Given the description of an element on the screen output the (x, y) to click on. 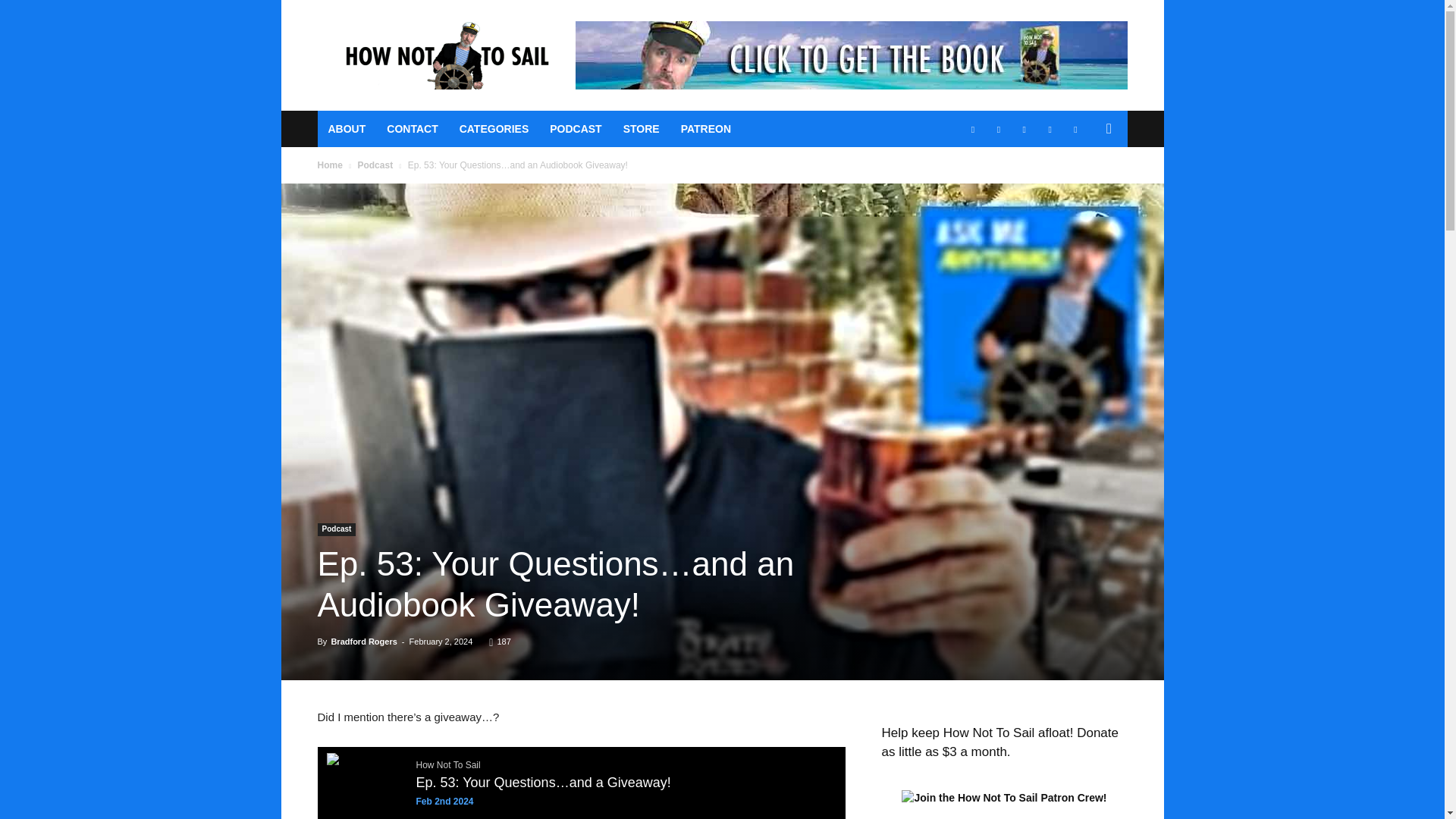
CATEGORIES (494, 128)
ABOUT (346, 128)
CONTACT (411, 128)
Screwing up is part of cruising. Let me show you how! (445, 55)
